Given the description of an element on the screen output the (x, y) to click on. 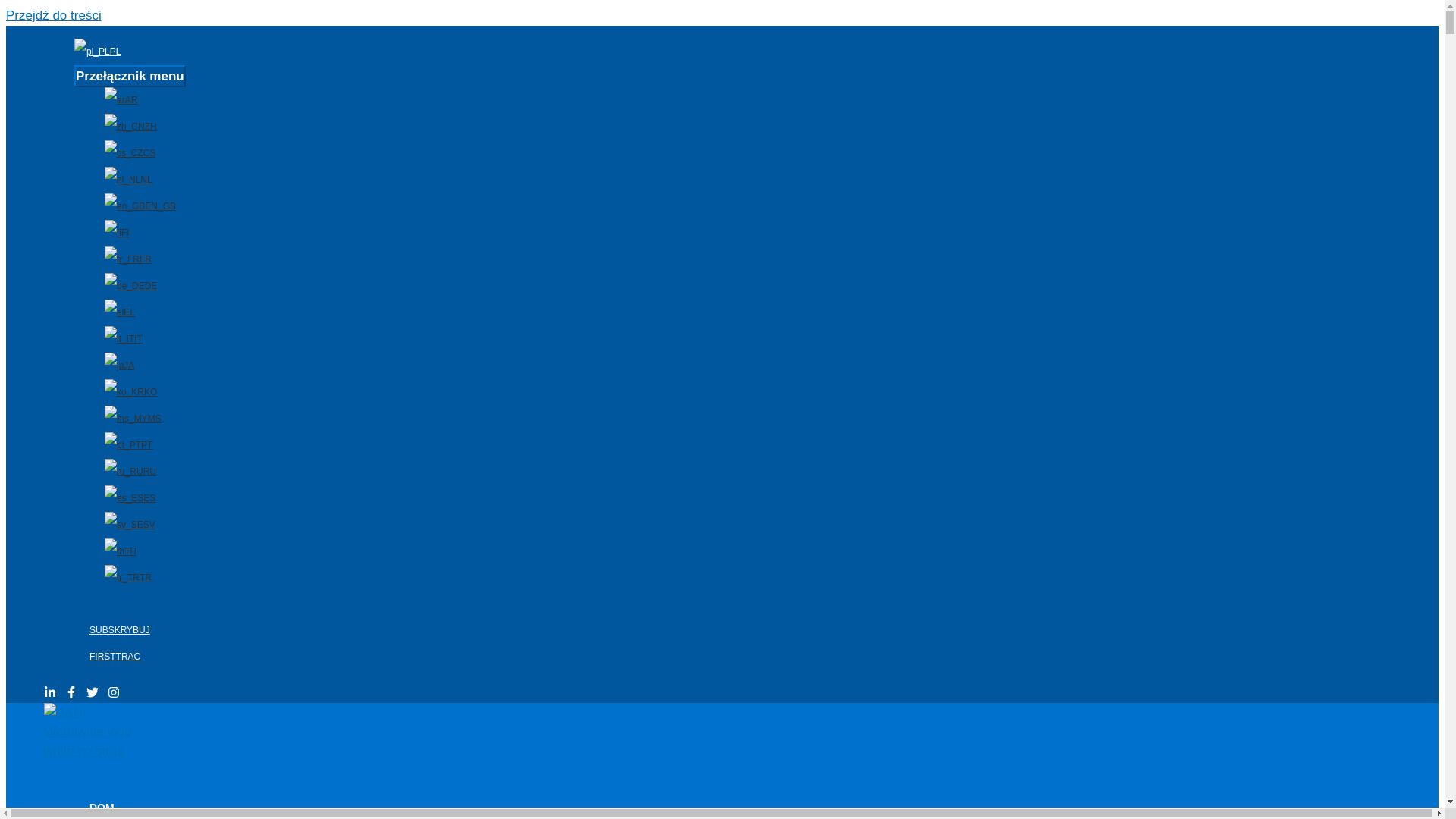
RU (145, 471)
Spanish (123, 498)
Polish (92, 50)
English (124, 206)
DE (145, 285)
DOM (384, 796)
CS (145, 153)
EL (145, 312)
Swedish (123, 524)
German (124, 285)
JA (145, 365)
TH (145, 551)
Russian (123, 471)
SV (145, 524)
SUBSKRYBUJ (119, 630)
